Given the description of an element on the screen output the (x, y) to click on. 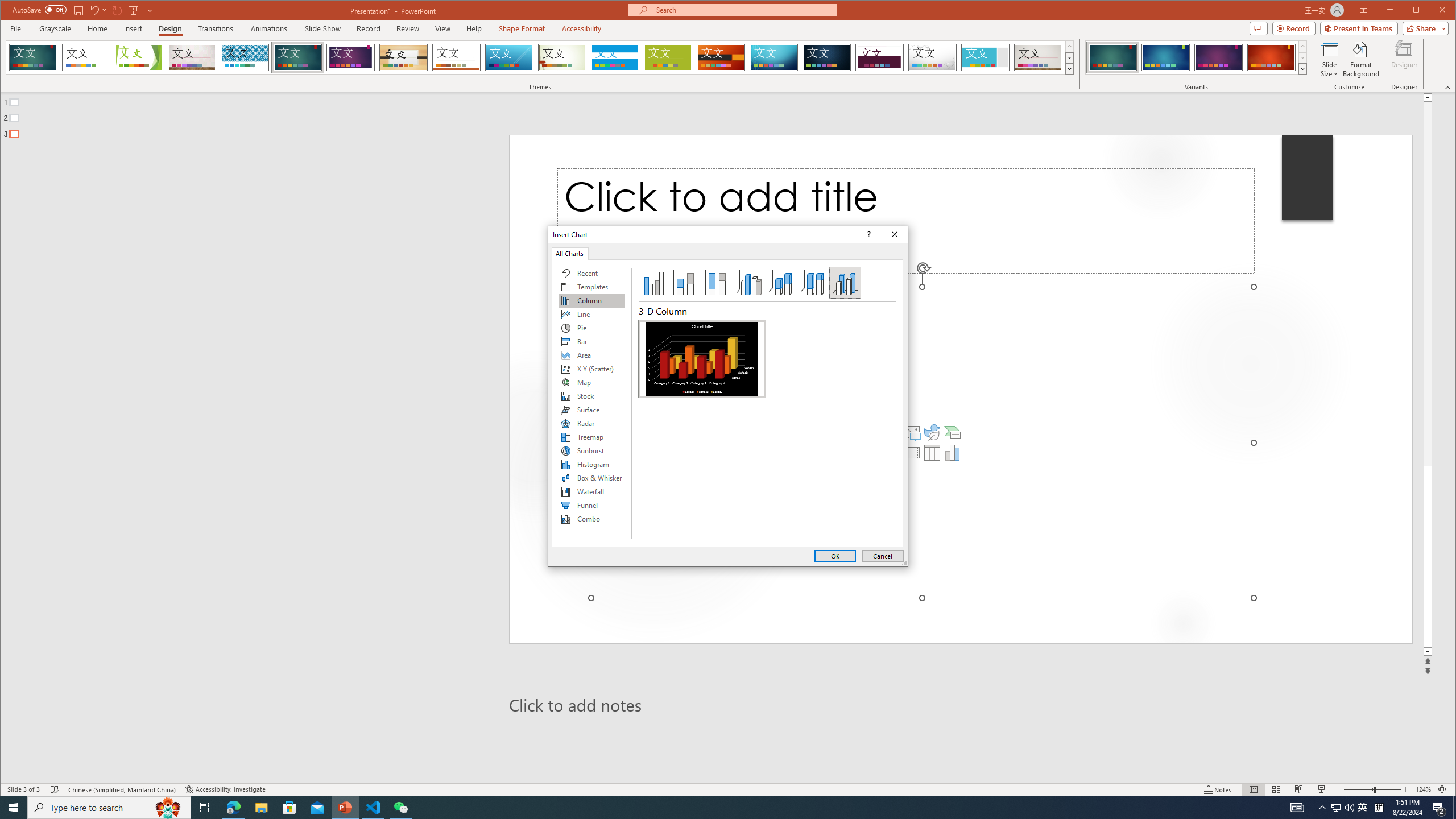
Map (591, 382)
Dividend (879, 57)
Ion Boardroom (350, 57)
Banded (615, 57)
